Given the description of an element on the screen output the (x, y) to click on. 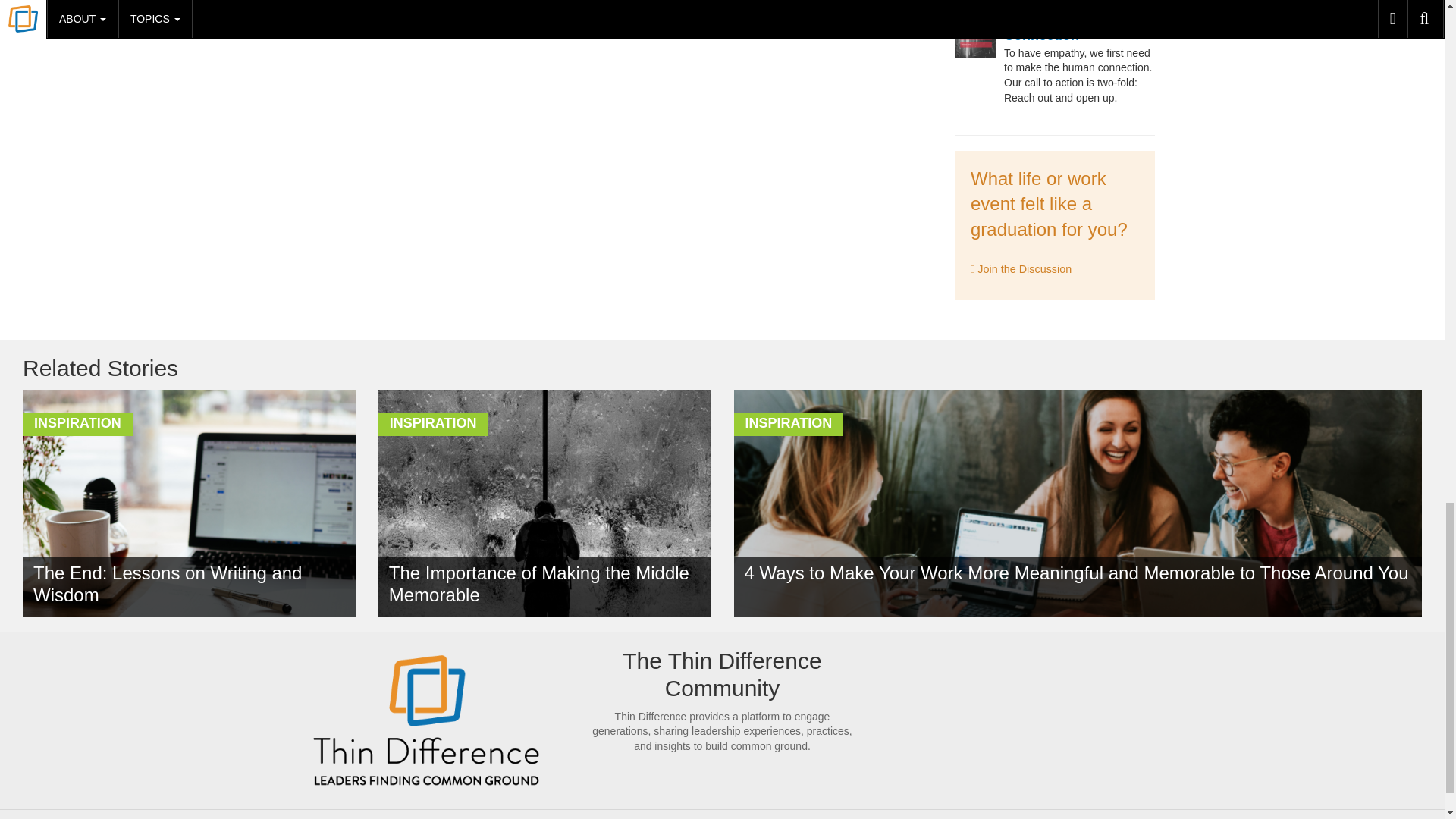
Empathy: Making the Connection (1072, 28)
